Given the description of an element on the screen output the (x, y) to click on. 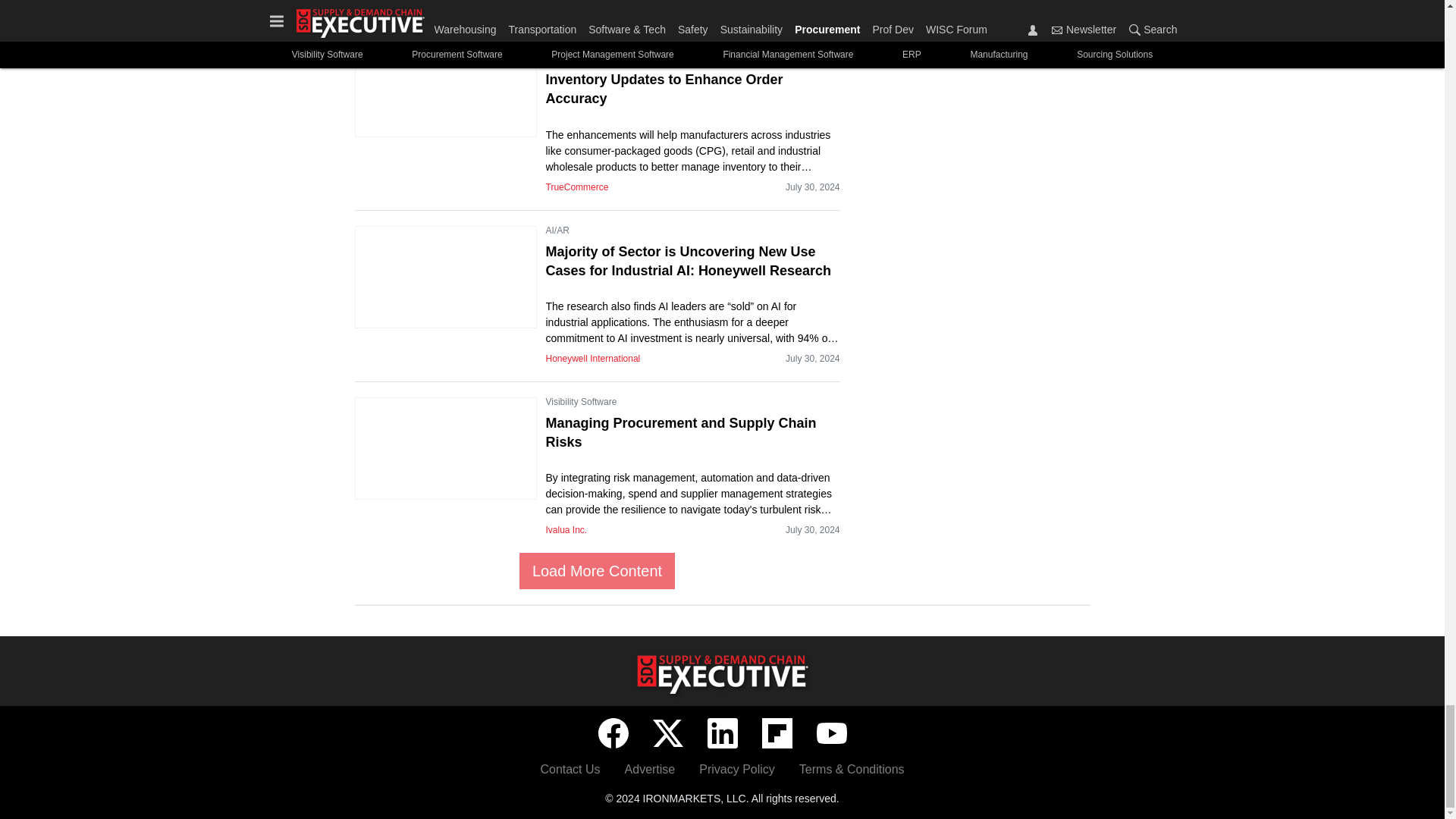
YouTube icon (830, 733)
Facebook icon (611, 733)
Flipboard icon (776, 733)
LinkedIn icon (721, 733)
Twitter X icon (667, 733)
